Given the description of an element on the screen output the (x, y) to click on. 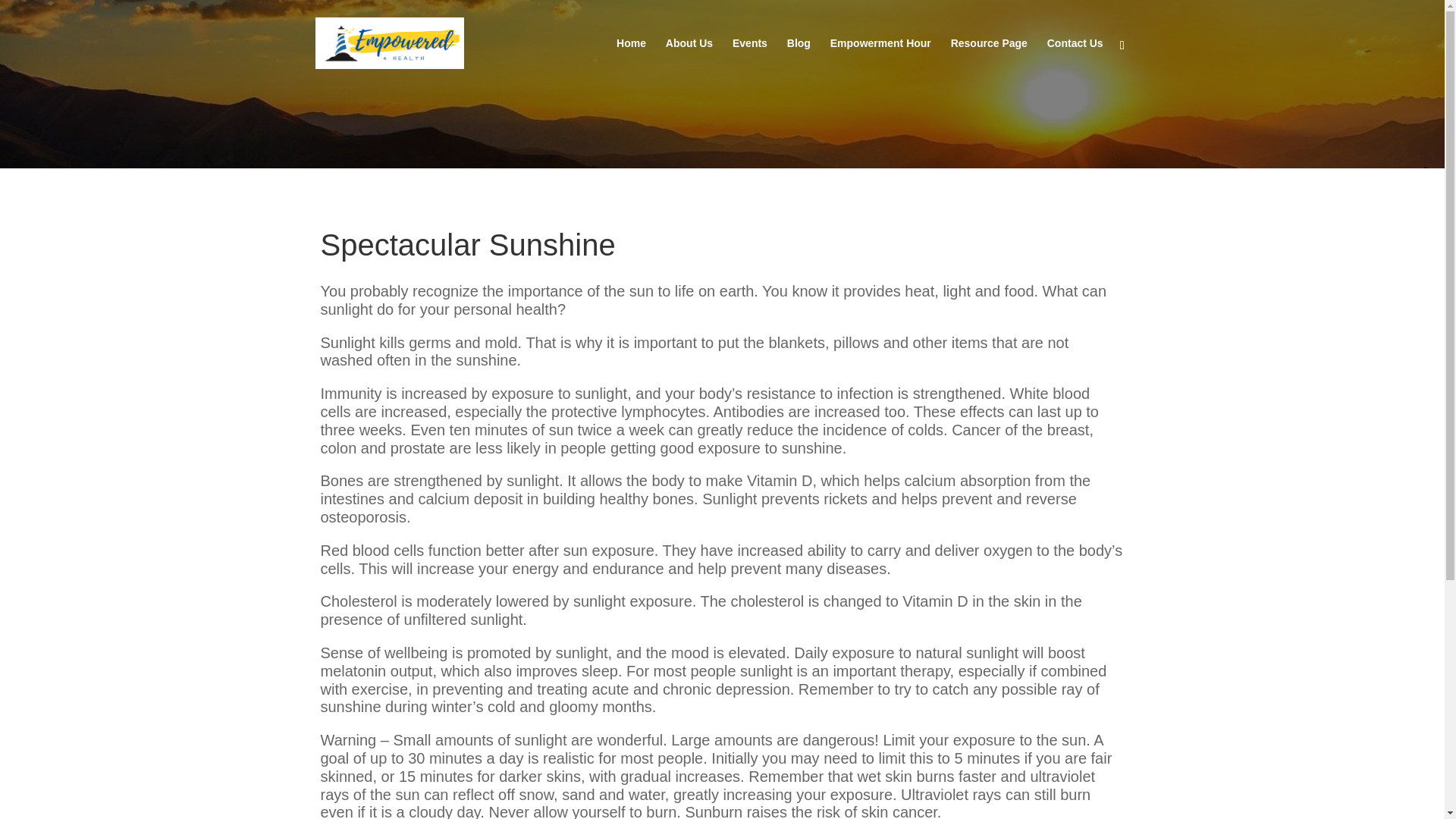
Empowerment Hour (880, 61)
About Us (689, 61)
Resource Page (988, 61)
Contact Us (1074, 61)
